Given the description of an element on the screen output the (x, y) to click on. 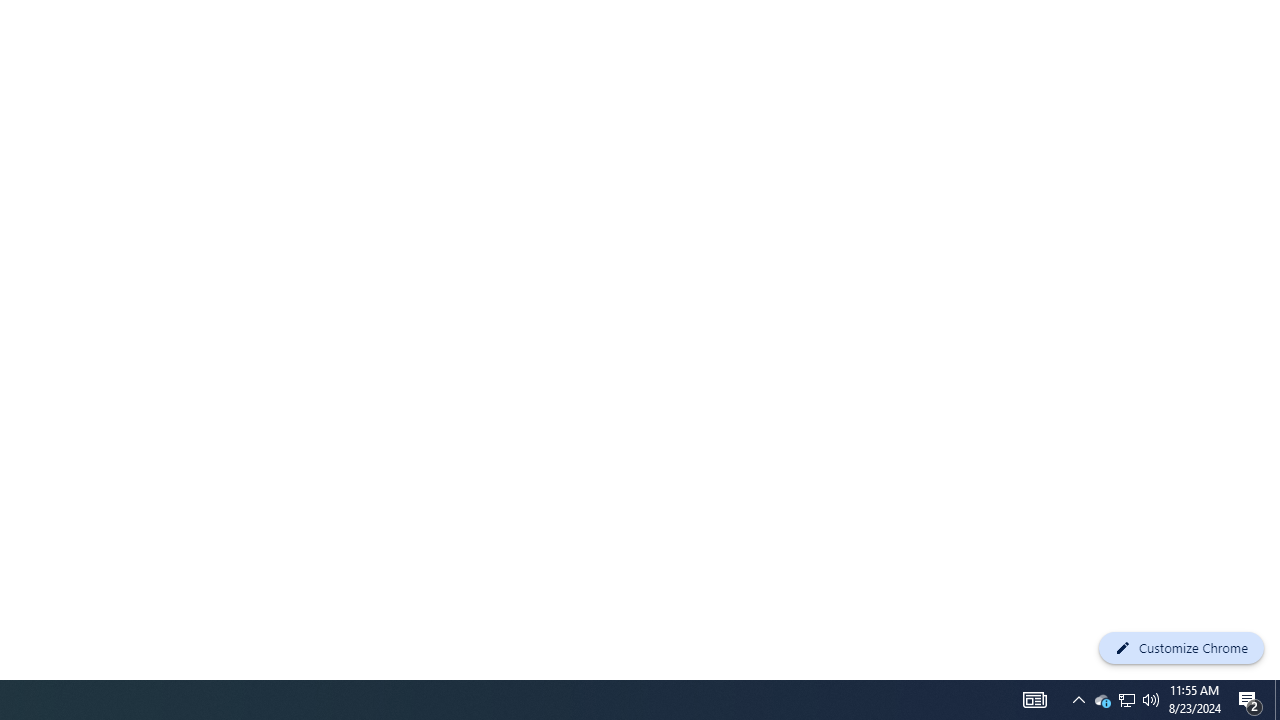
Customize Chrome (1181, 647)
